Given the description of an element on the screen output the (x, y) to click on. 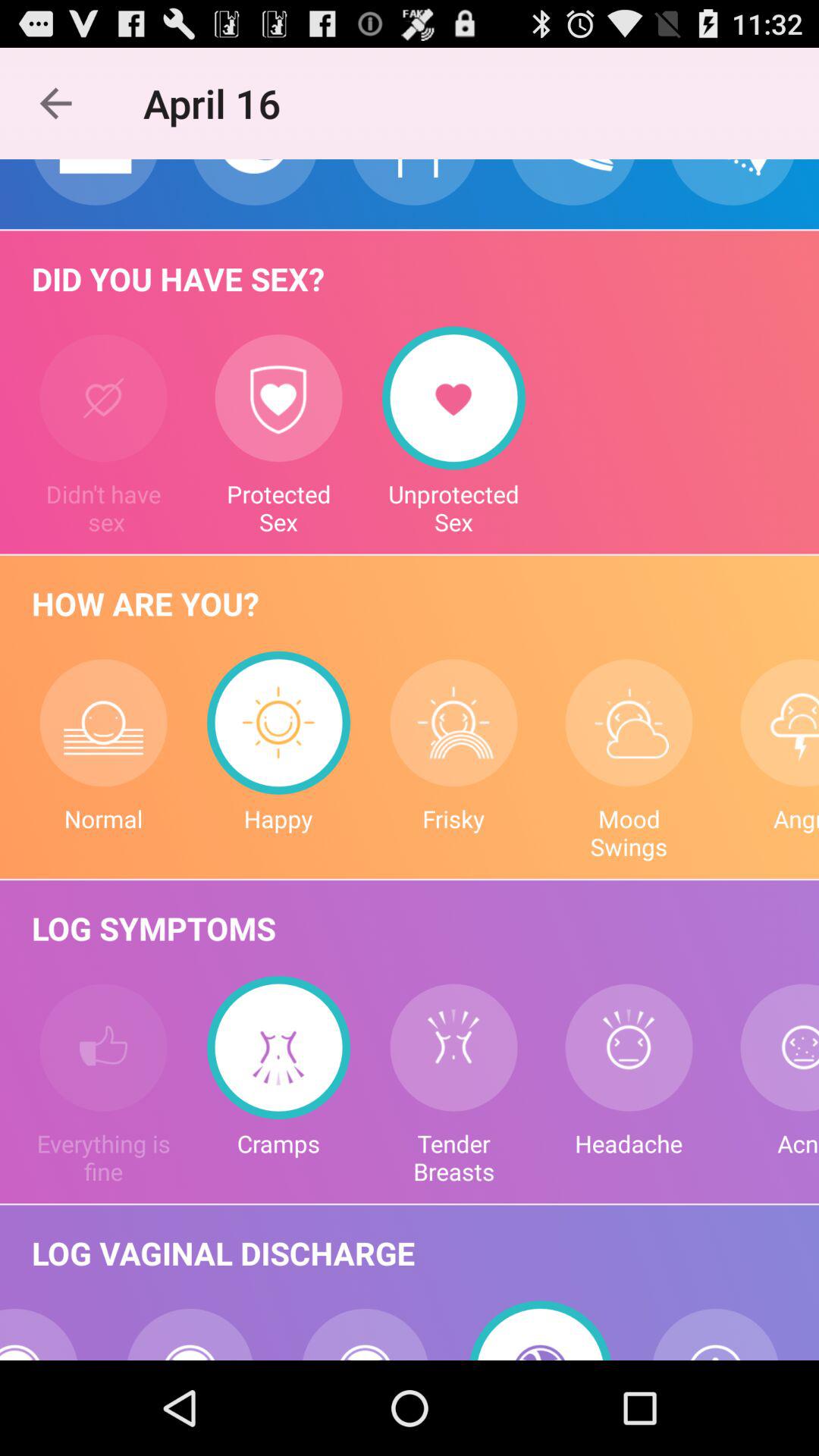
turn on the item next to the april 16 (55, 103)
